Given the description of an element on the screen output the (x, y) to click on. 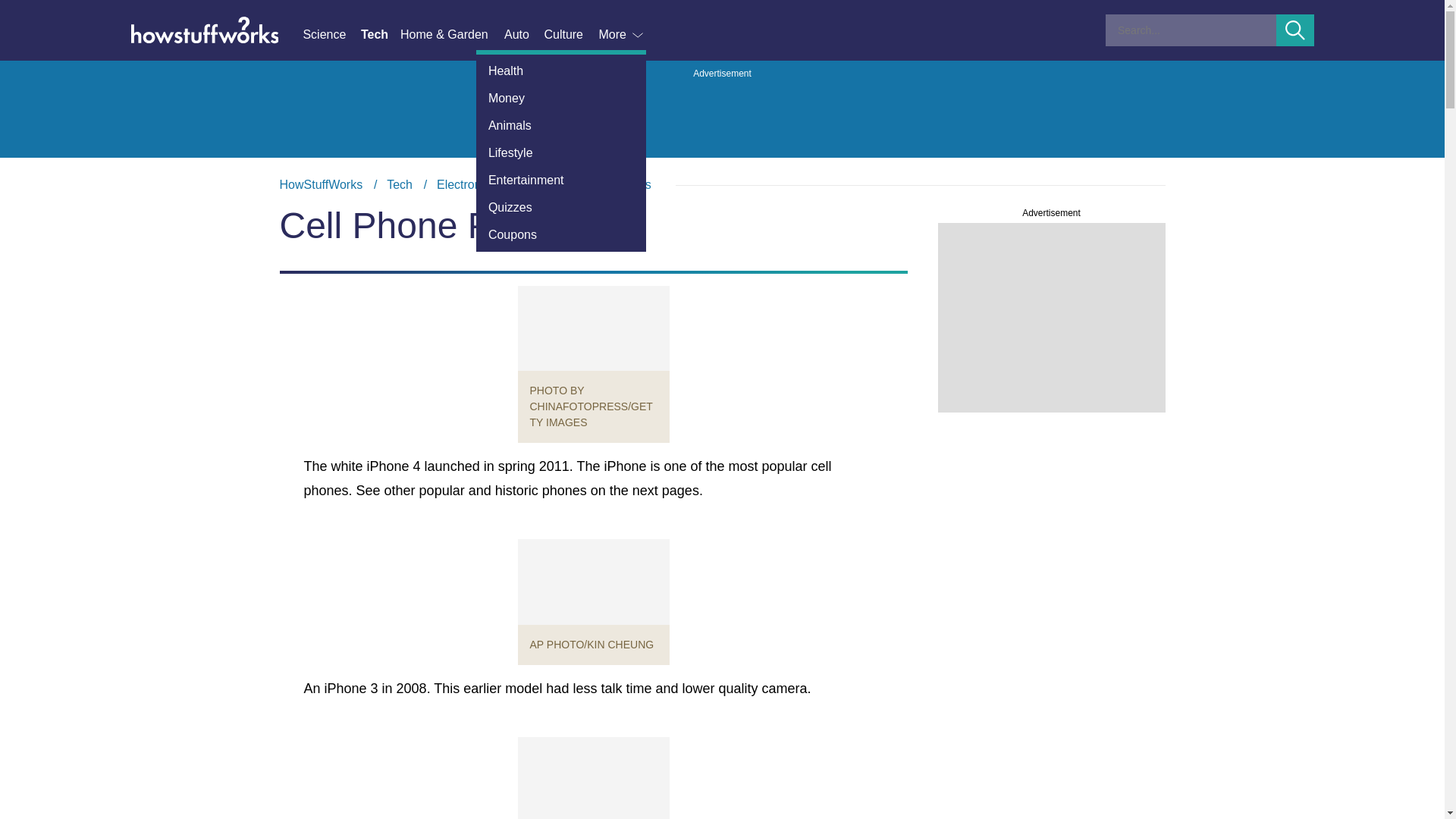
Culture (570, 34)
Money (561, 98)
Tech (399, 184)
Health (561, 71)
Submit Search (1295, 29)
Electronics (466, 184)
More (621, 34)
Entertainment (561, 180)
Animals (561, 125)
HowStuffWorks (320, 184)
Tech (380, 34)
Quizzes (561, 207)
Phones (539, 184)
Coupons (561, 234)
Cell Phones (617, 184)
